Given the description of an element on the screen output the (x, y) to click on. 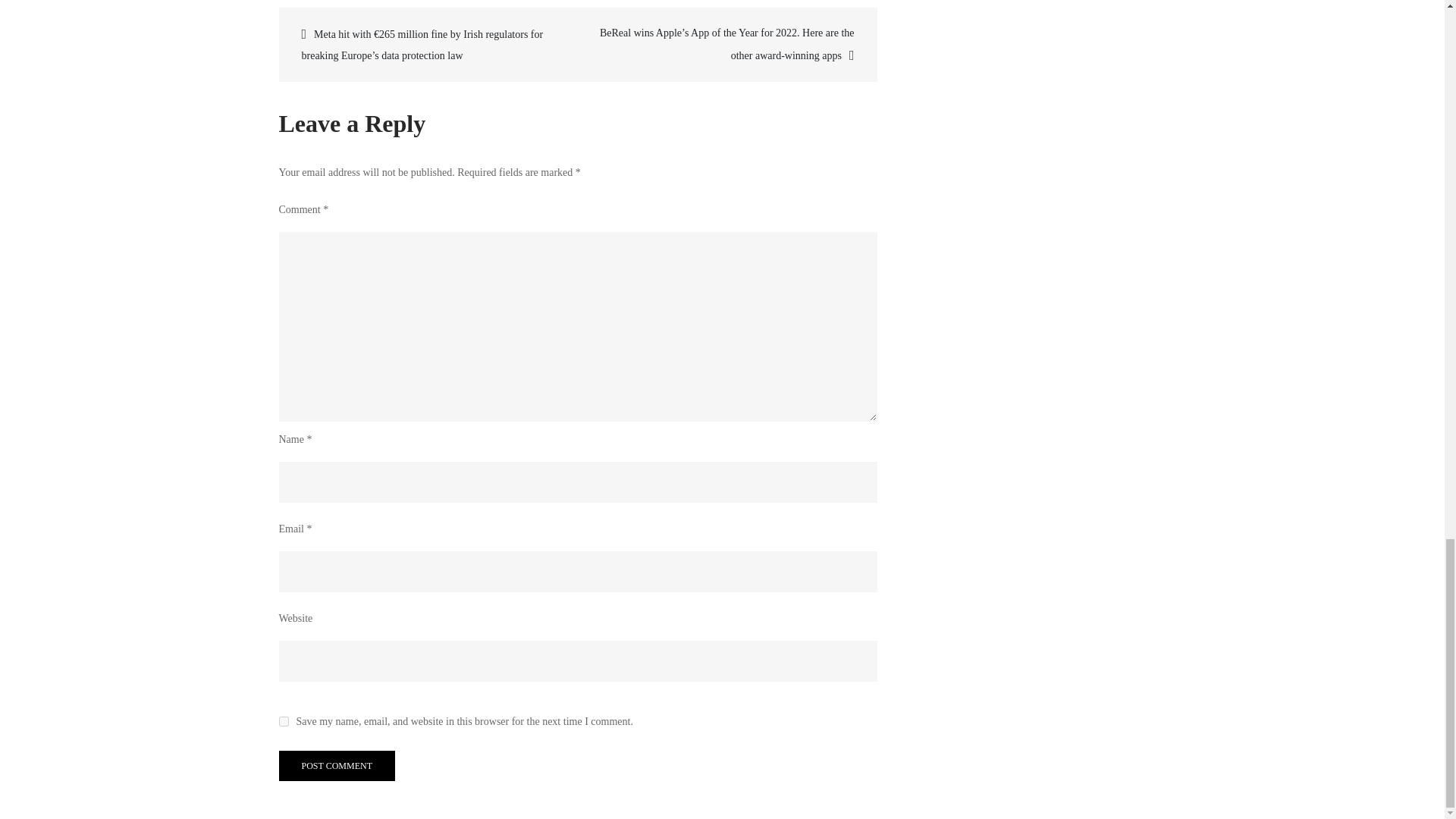
Post Comment (336, 766)
Post Comment (336, 766)
yes (283, 721)
